Given the description of an element on the screen output the (x, y) to click on. 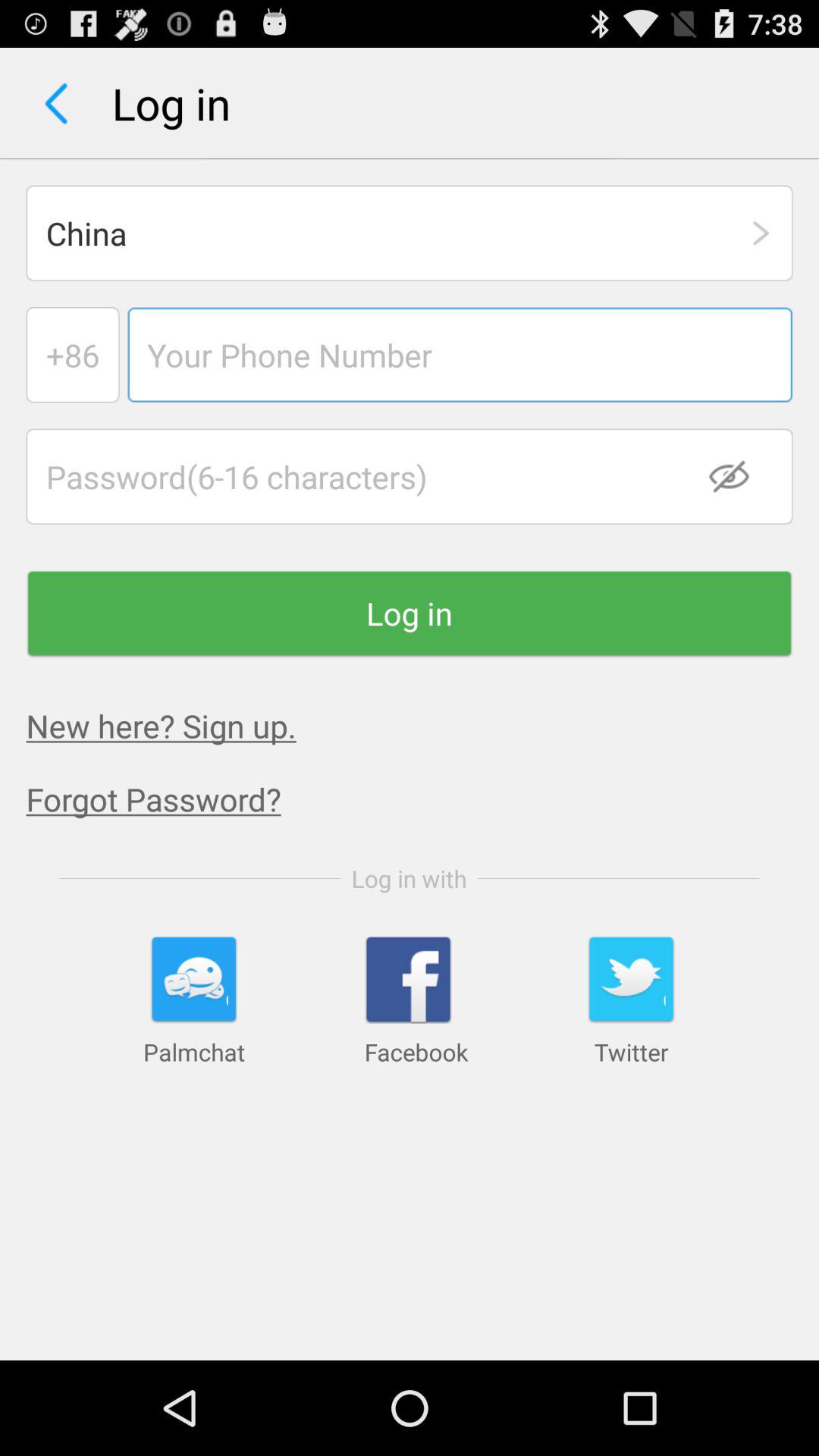
return to previous page (56, 103)
